Given the description of an element on the screen output the (x, y) to click on. 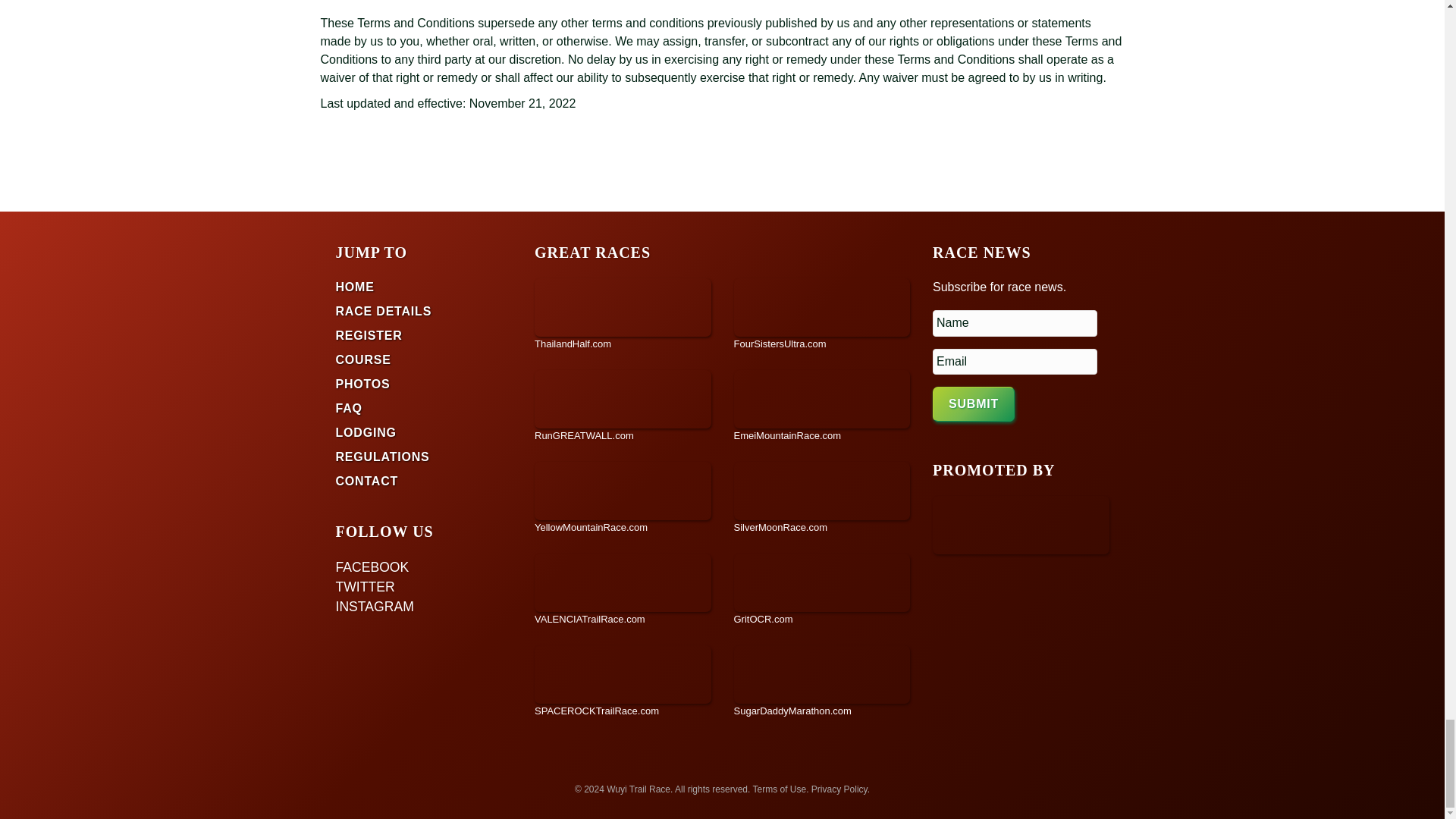
Grit OCR (822, 590)
HOME (354, 286)
Emei Mountain Race (822, 406)
Twitter (418, 587)
Four Sisters Ultra (822, 315)
PHOTOS (362, 383)
Sugar Daddy Race (822, 682)
COURSE (362, 359)
Email (1015, 361)
LODGING (365, 431)
